Given the description of an element on the screen output the (x, y) to click on. 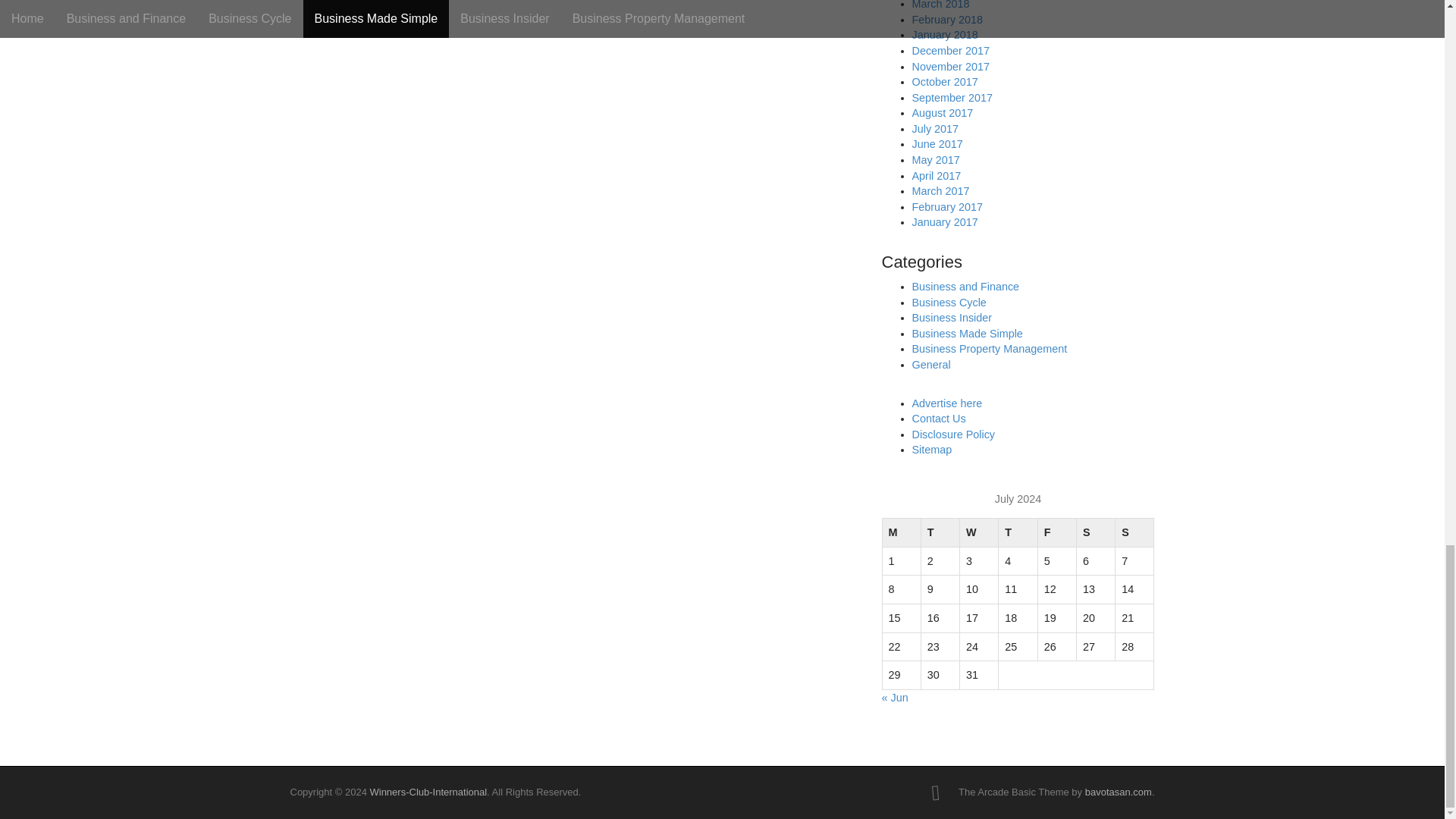
Wednesday (978, 532)
Friday (1055, 532)
Thursday (1017, 532)
Saturday (1095, 532)
Sunday (1134, 532)
Monday (901, 532)
Tuesday (939, 532)
